Given the description of an element on the screen output the (x, y) to click on. 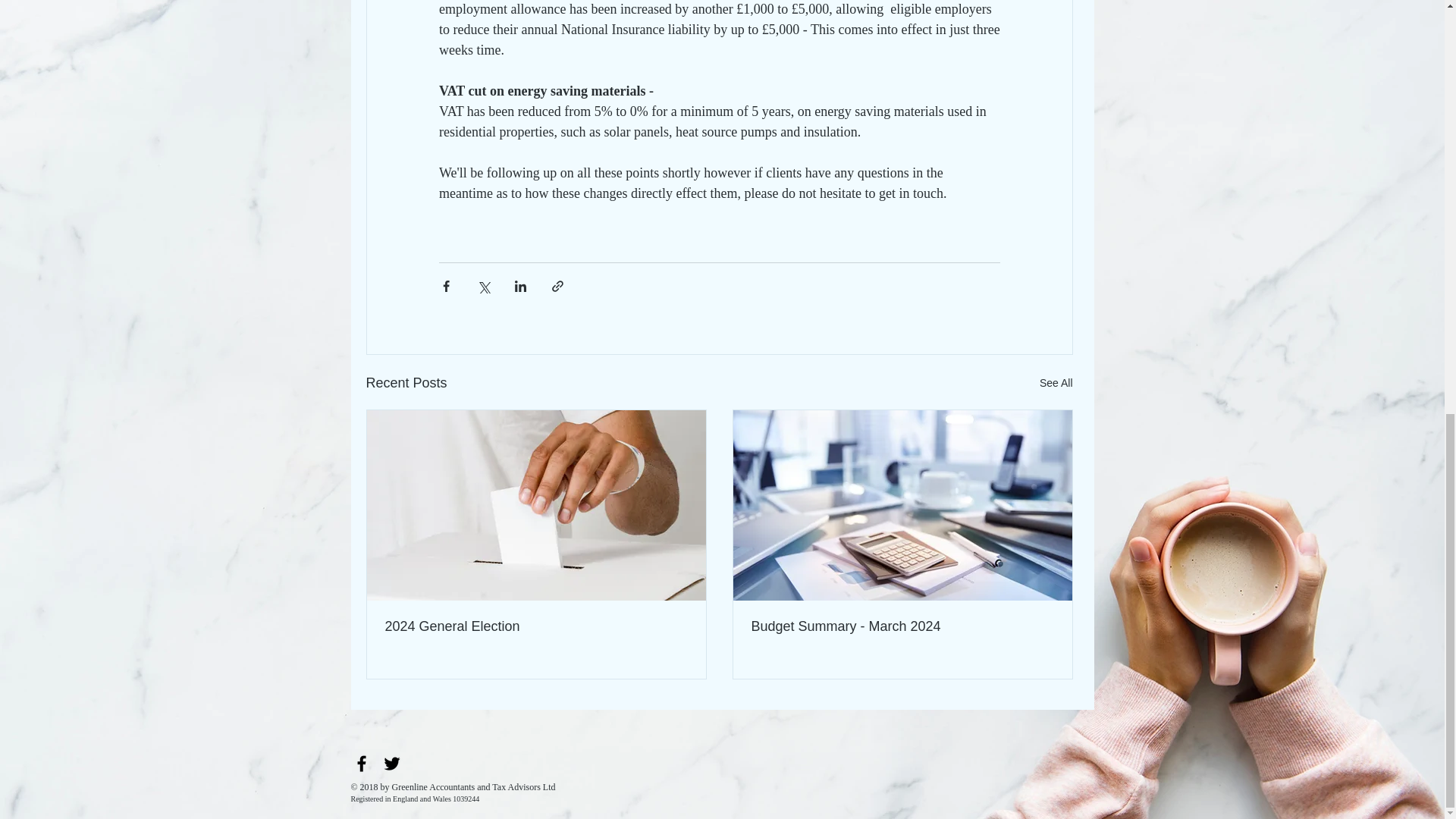
Budget Summary - March 2024 (901, 626)
2024 General Election (536, 626)
See All (1056, 382)
